Given the description of an element on the screen output the (x, y) to click on. 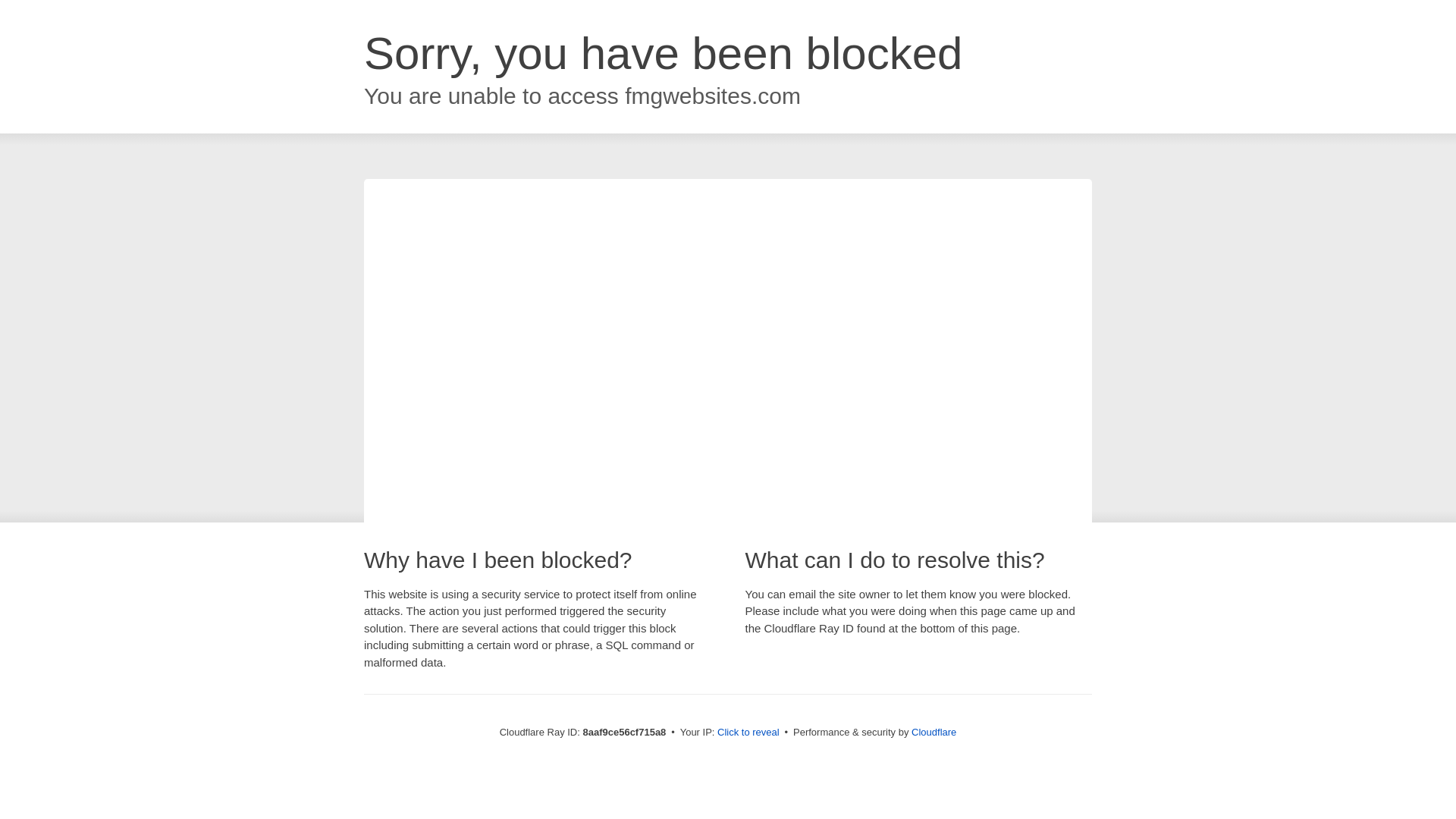
Cloudflare (933, 731)
Click to reveal (747, 732)
